Given the description of an element on the screen output the (x, y) to click on. 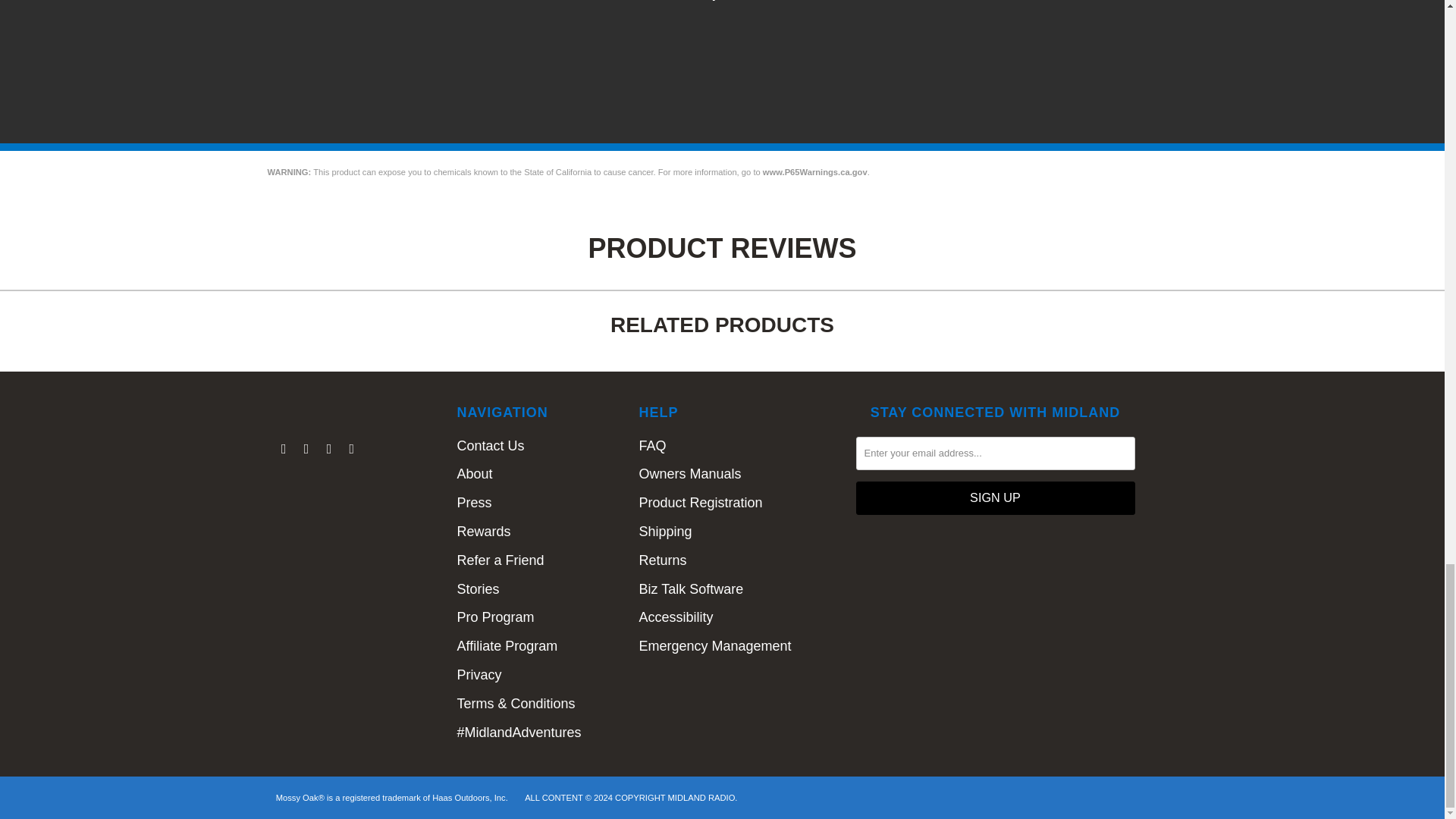
Sign Up (995, 498)
Midland Radio on Facebook (306, 449)
Midland Radio on Twitter (283, 449)
Midland Radio on Instagram (351, 449)
Midland Radio on YouTube (328, 449)
